Given the description of an element on the screen output the (x, y) to click on. 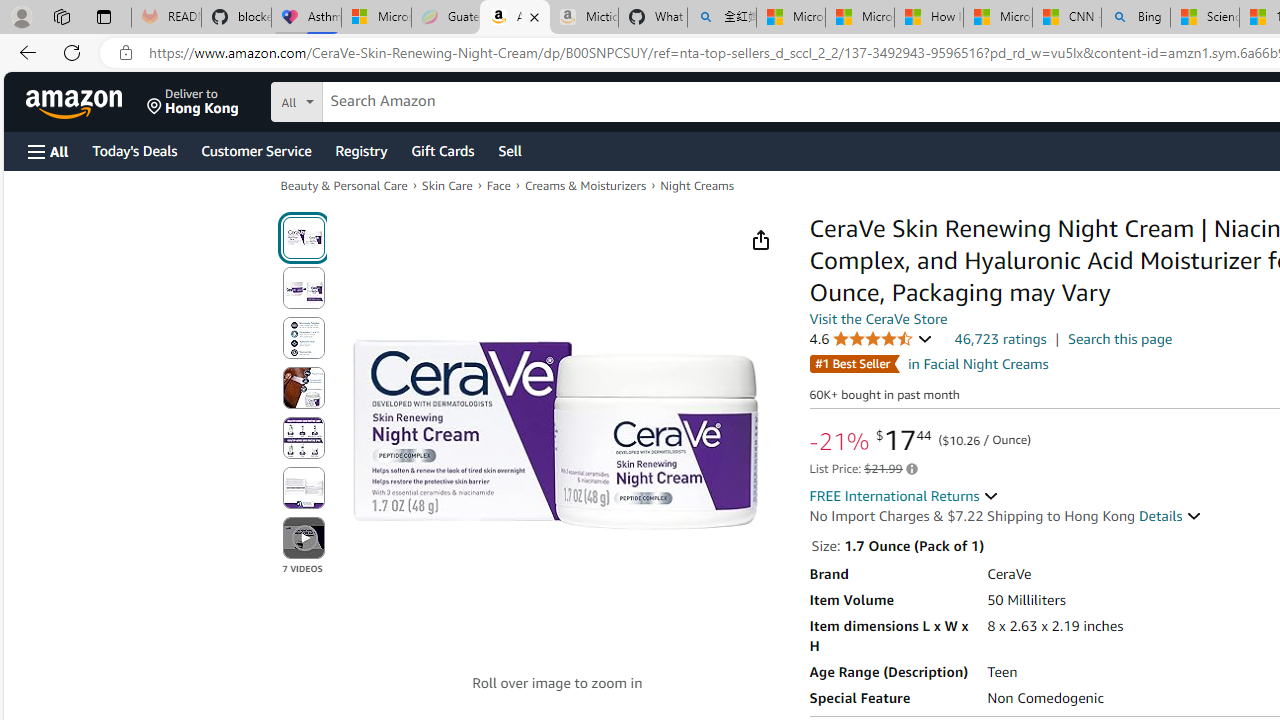
4.6 4.6 out of 5 stars (870, 339)
Face (498, 185)
Details  (1170, 516)
How I Got Rid of Microsoft Edge's Unnecessary Features (928, 17)
46,723 ratings (1000, 338)
